Given the description of an element on the screen output the (x, y) to click on. 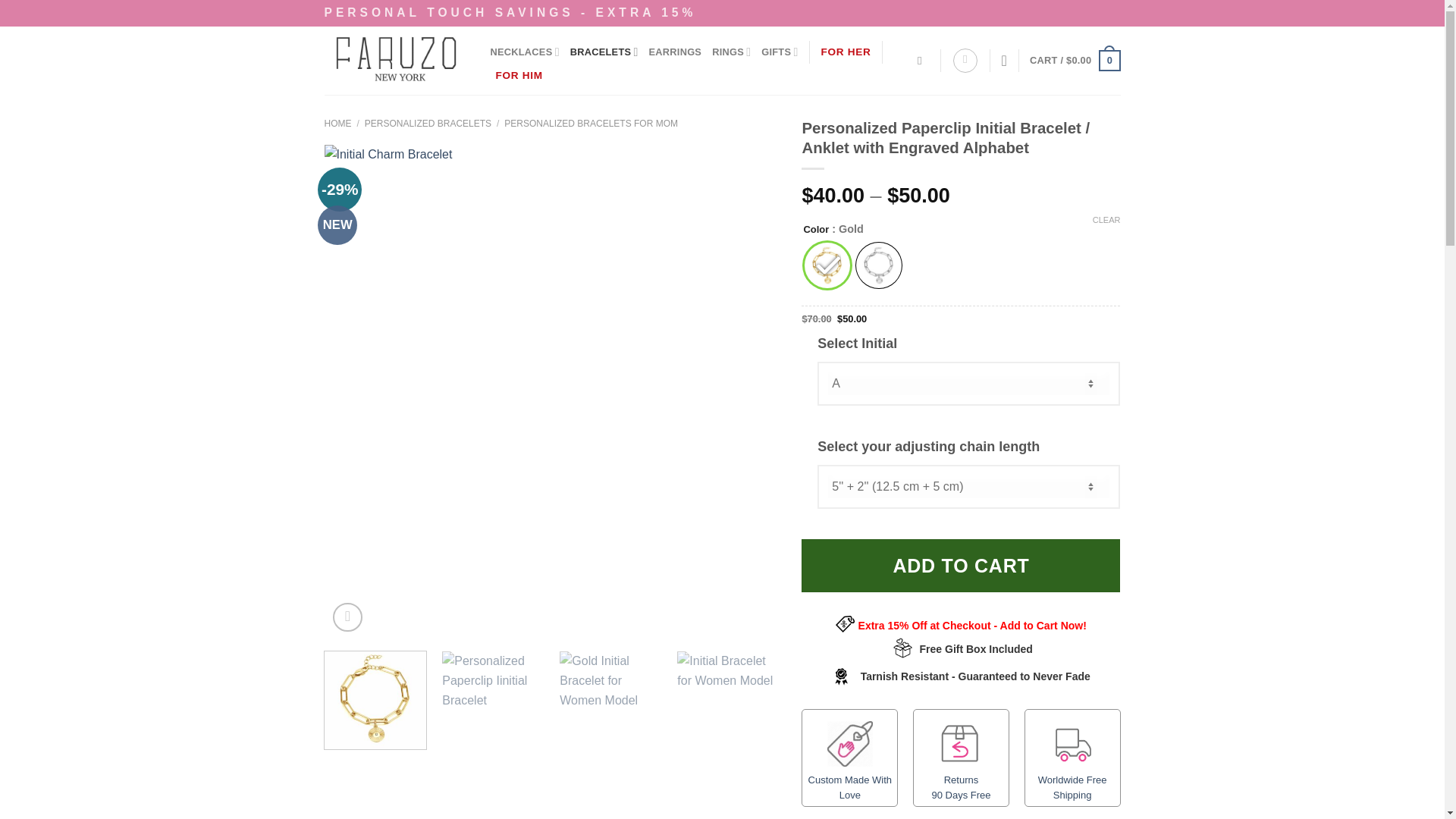
Gold (827, 265)
Cart (1074, 60)
EARRINGS (675, 52)
Zoom (347, 617)
RINGS (731, 51)
NECKLACES (524, 51)
BRACELETS (604, 51)
